Given the description of an element on the screen output the (x, y) to click on. 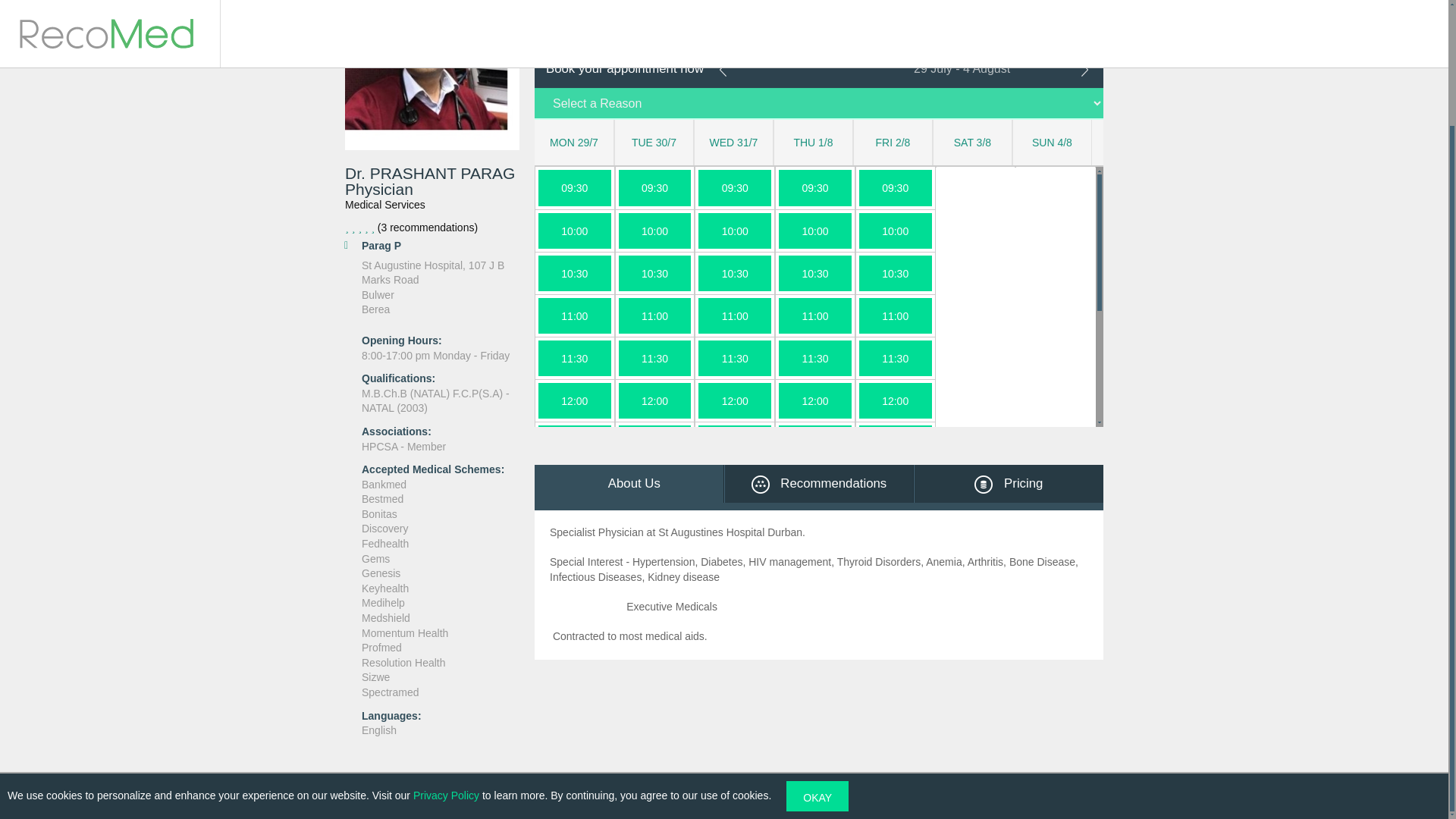
Privacy Policy (446, 653)
OKAY (817, 654)
4.89 (432, 227)
